Given the description of an element on the screen output the (x, y) to click on. 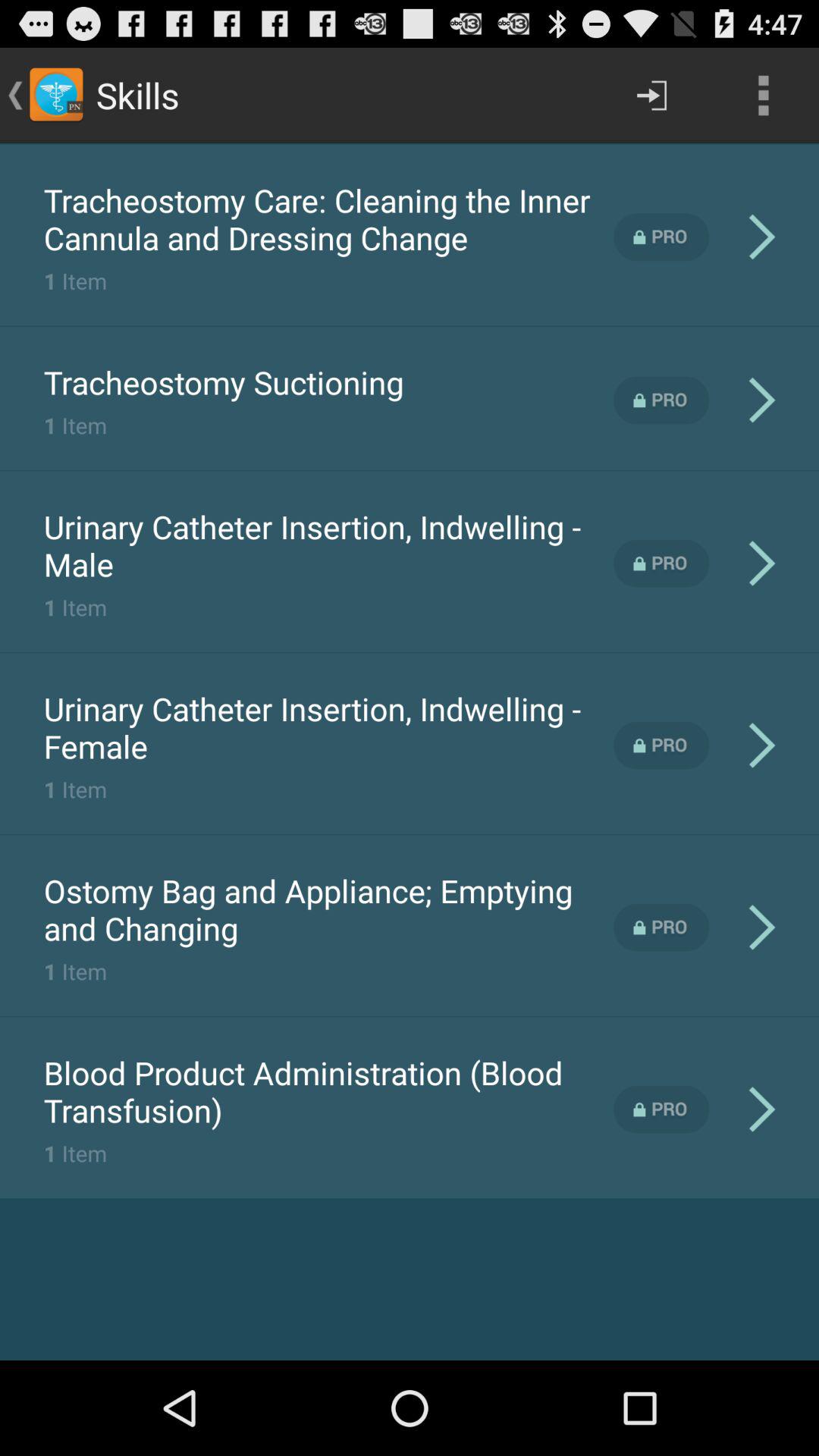
click the icon below the 1 item app (223, 381)
